Given the description of an element on the screen output the (x, y) to click on. 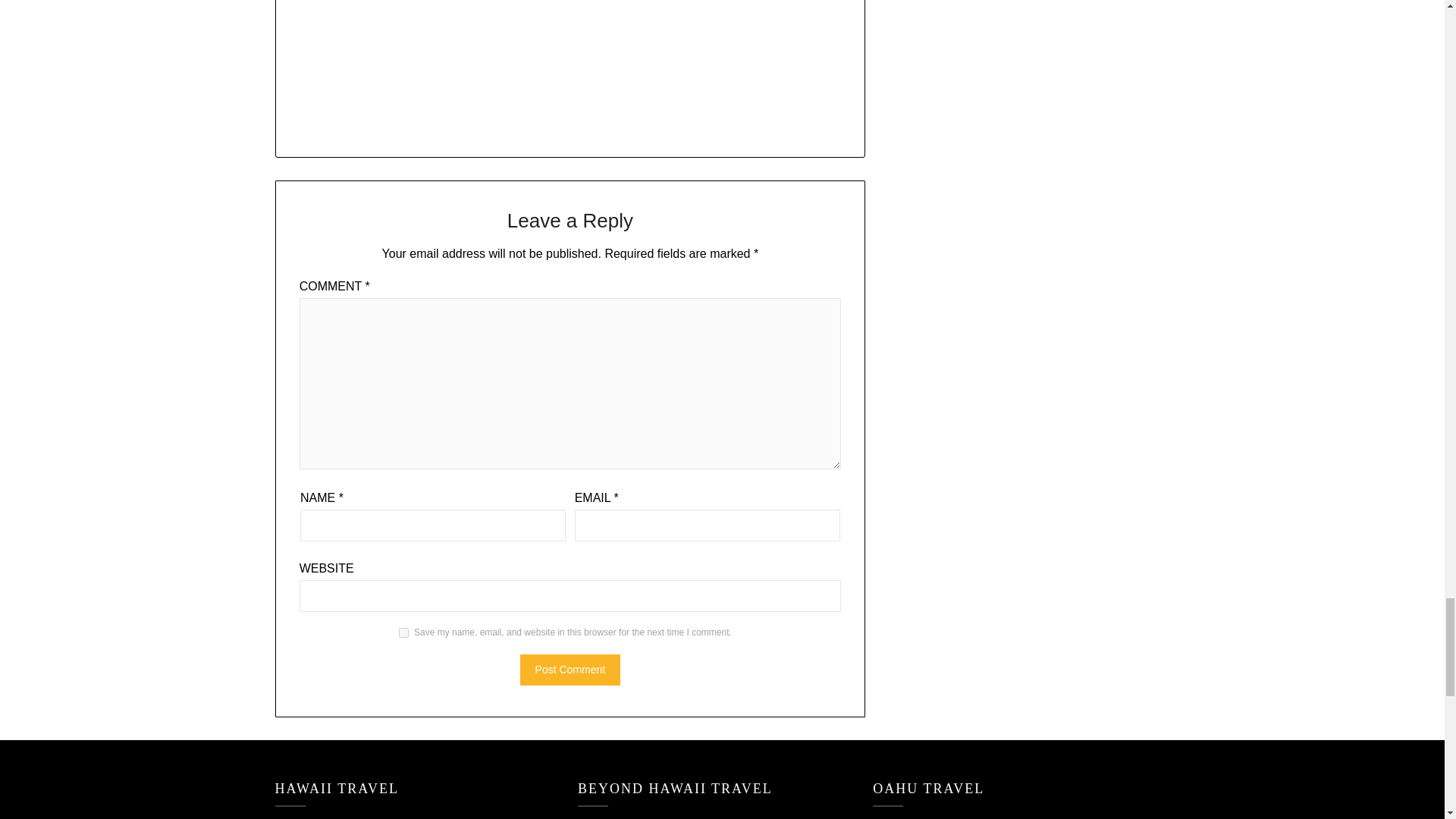
Post Comment (570, 669)
yes (403, 633)
Post Comment (570, 669)
